Given the description of an element on the screen output the (x, y) to click on. 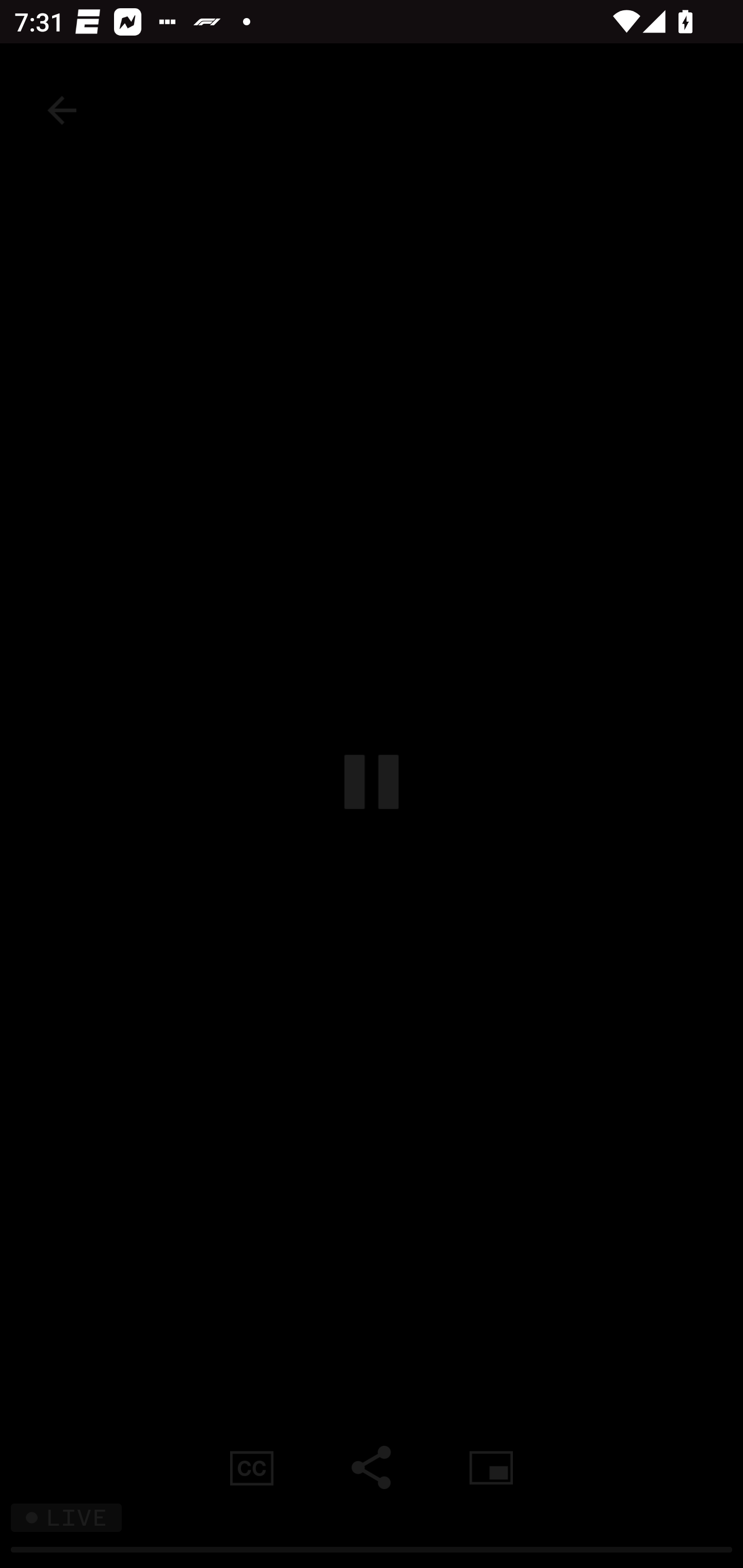
Back (61, 110)
Pause (371, 781)
Closed Captions, ON (251, 1467)
Share Media (371, 1467)
Picture in Picture Media (490, 1467)
